Given the description of an element on the screen output the (x, y) to click on. 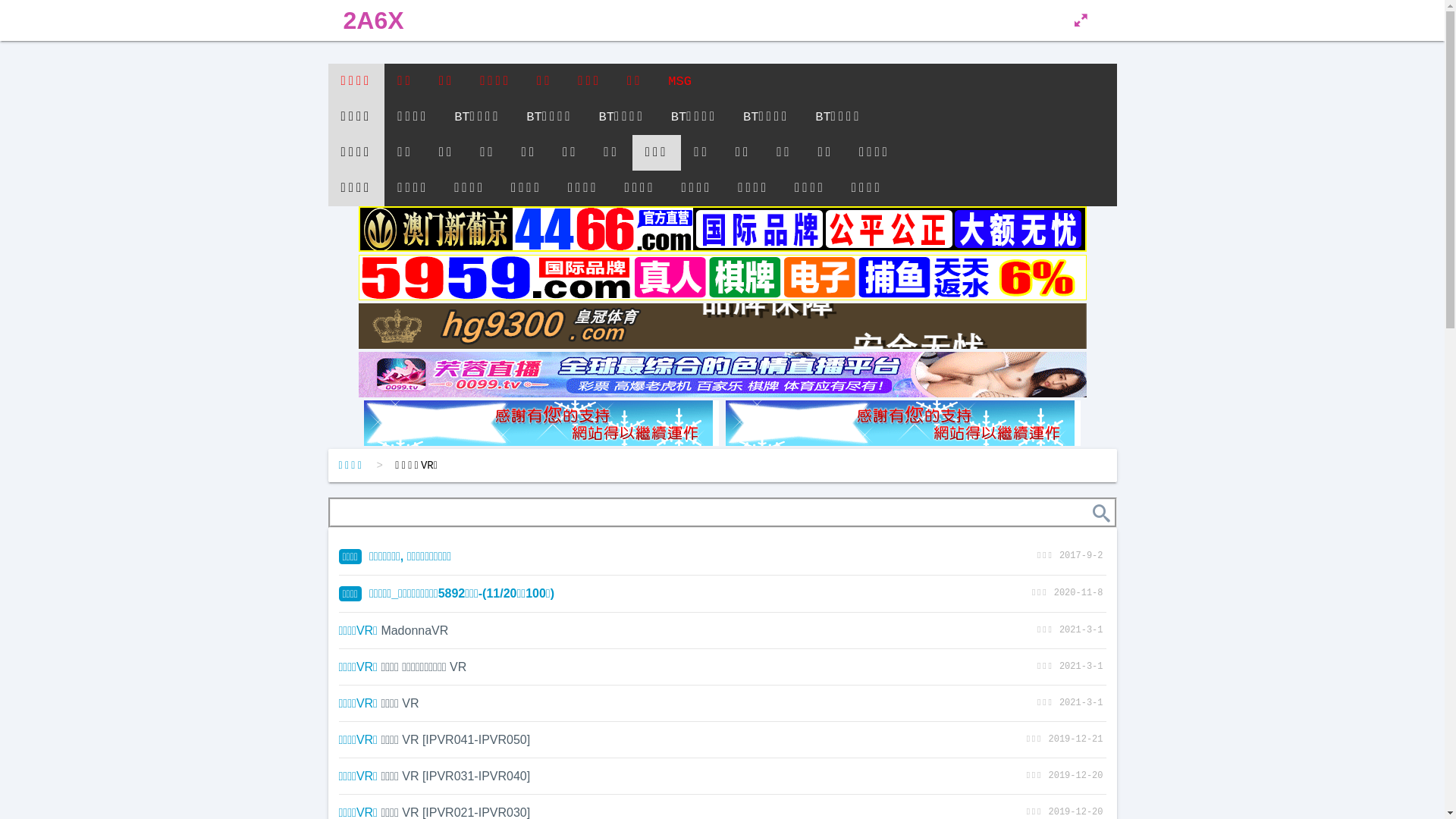
MadonnaVR Element type: text (414, 630)
2A6X Element type: text (372, 20)
MSG Element type: text (679, 81)
